Given the description of an element on the screen output the (x, y) to click on. 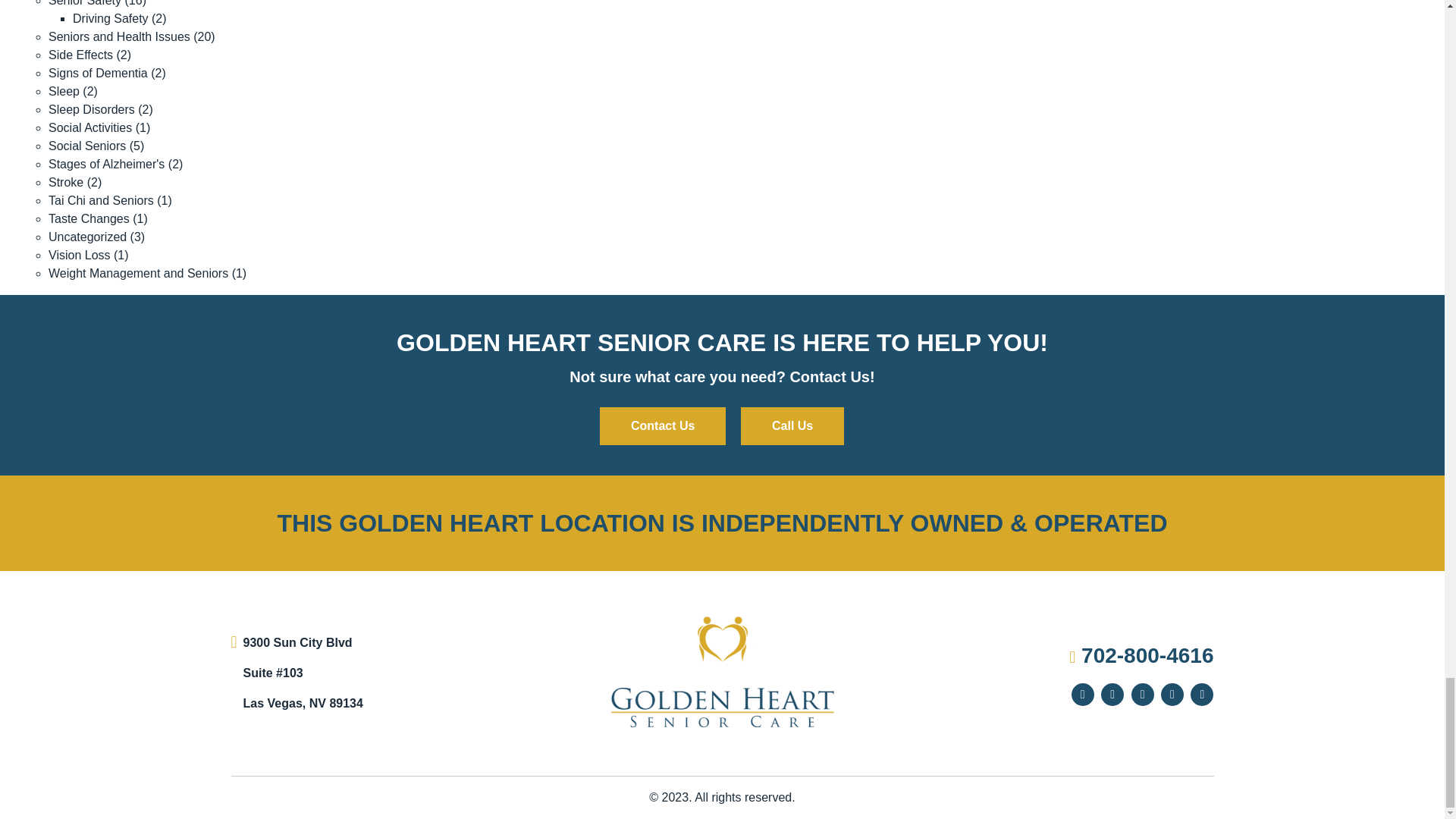
Golden Heart Senior Care (721, 671)
Contact Golden Heart Senior Care (662, 426)
